Given the description of an element on the screen output the (x, y) to click on. 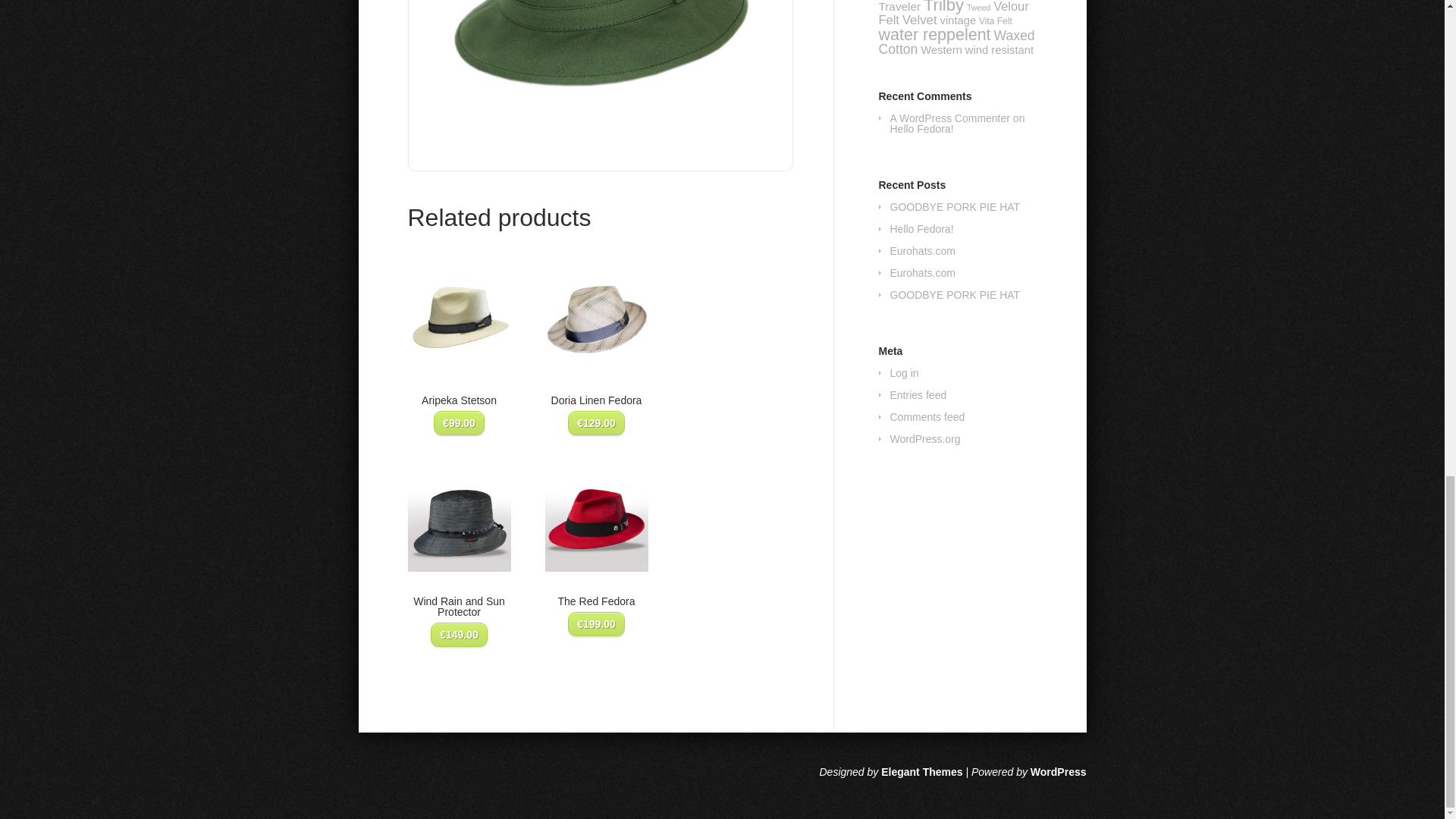
Premium WordPress Themes (921, 771)
